Given the description of an element on the screen output the (x, y) to click on. 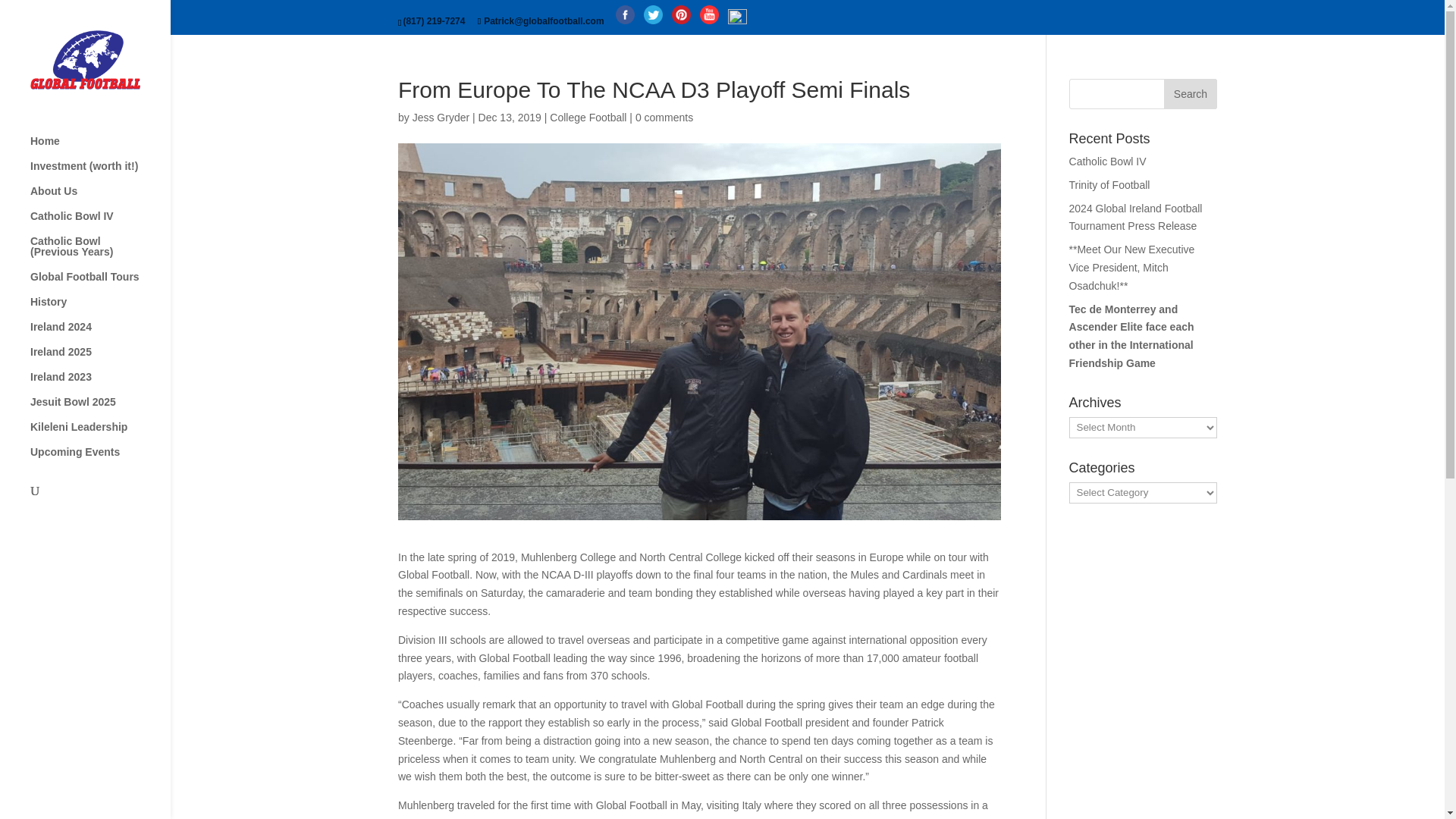
Search (1190, 93)
Catholic Bowl IV (100, 222)
About Us (100, 197)
Posts by Jess Gryder (440, 117)
Home (100, 147)
